Given the description of an element on the screen output the (x, y) to click on. 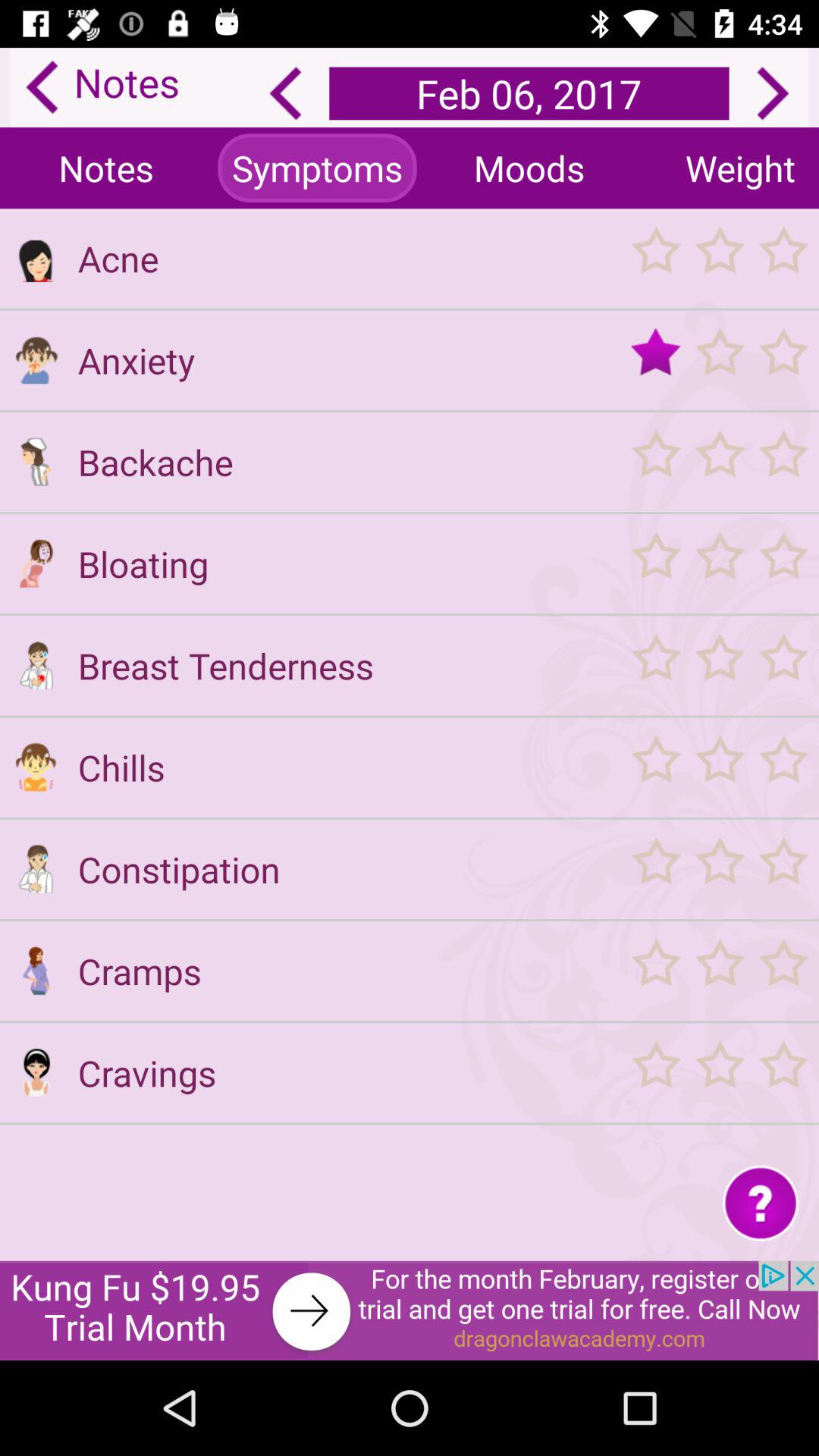
blank page (35, 1143)
